Given the description of an element on the screen output the (x, y) to click on. 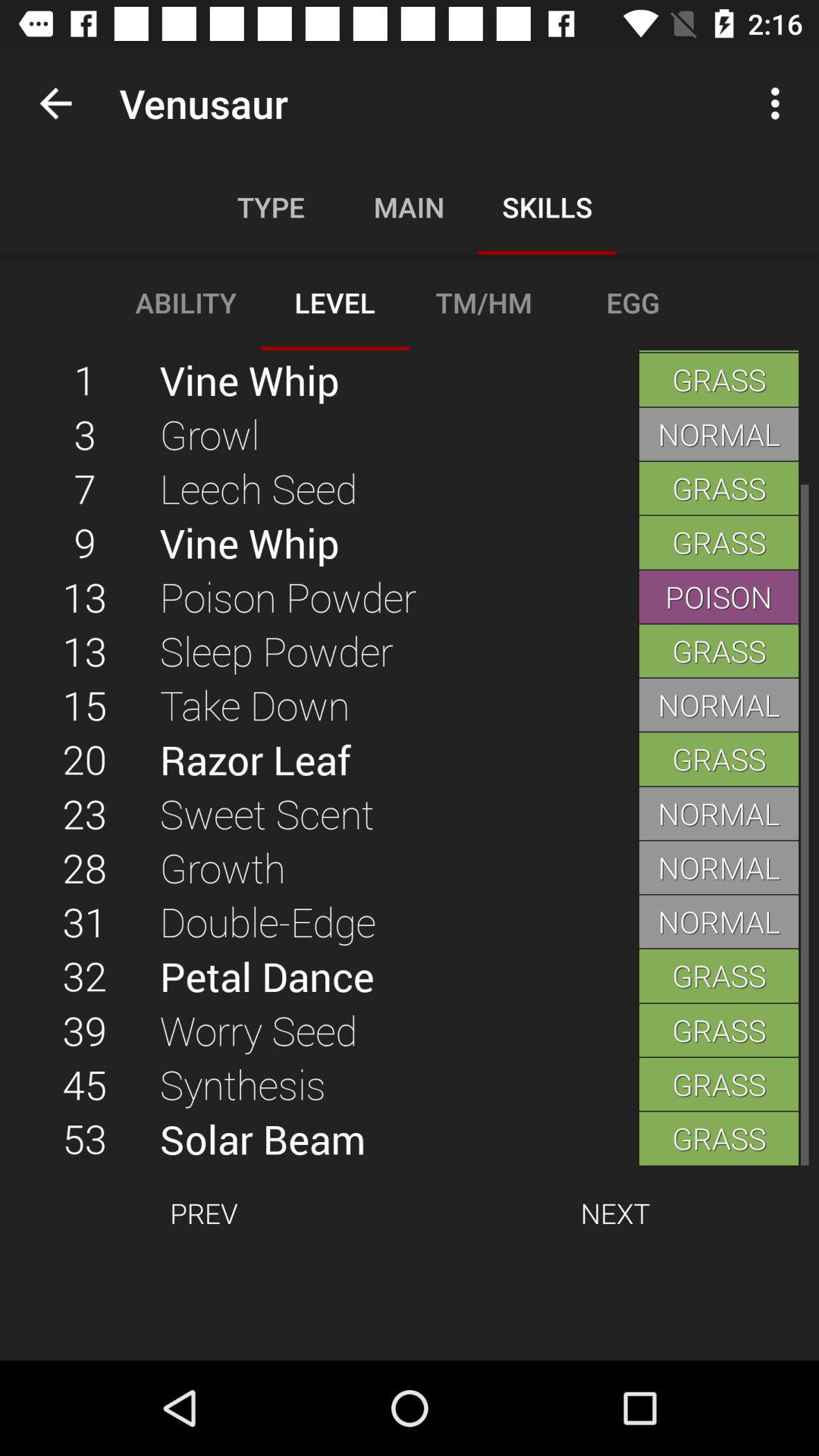
jump until sweet scent icon (399, 813)
